Given the description of an element on the screen output the (x, y) to click on. 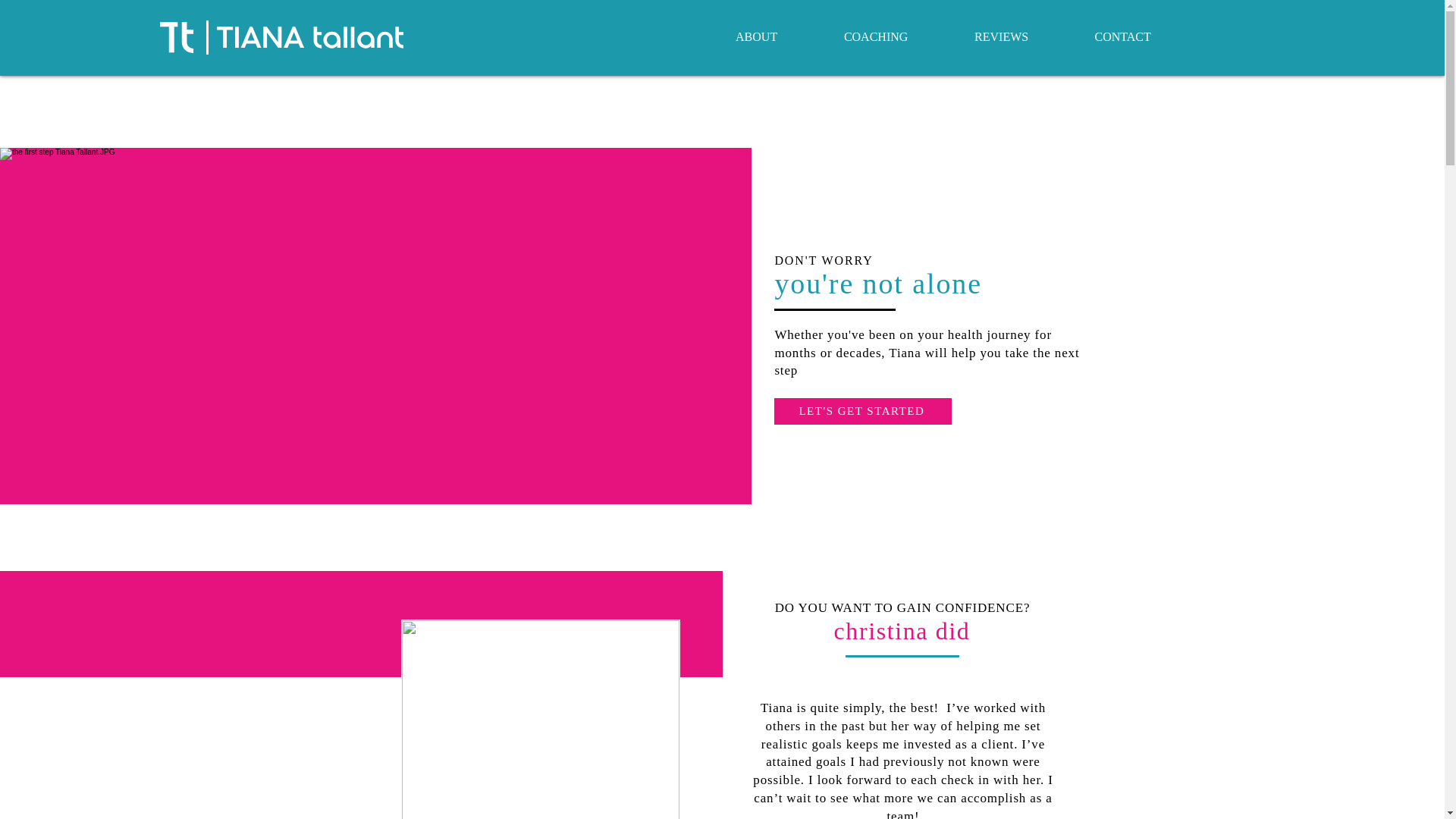
COACHING (875, 37)
LET'S GET STARTED (863, 411)
CONTACT (1122, 37)
REVIEWS (1000, 37)
image2.jpg (539, 719)
ABOUT (755, 37)
